Given the description of an element on the screen output the (x, y) to click on. 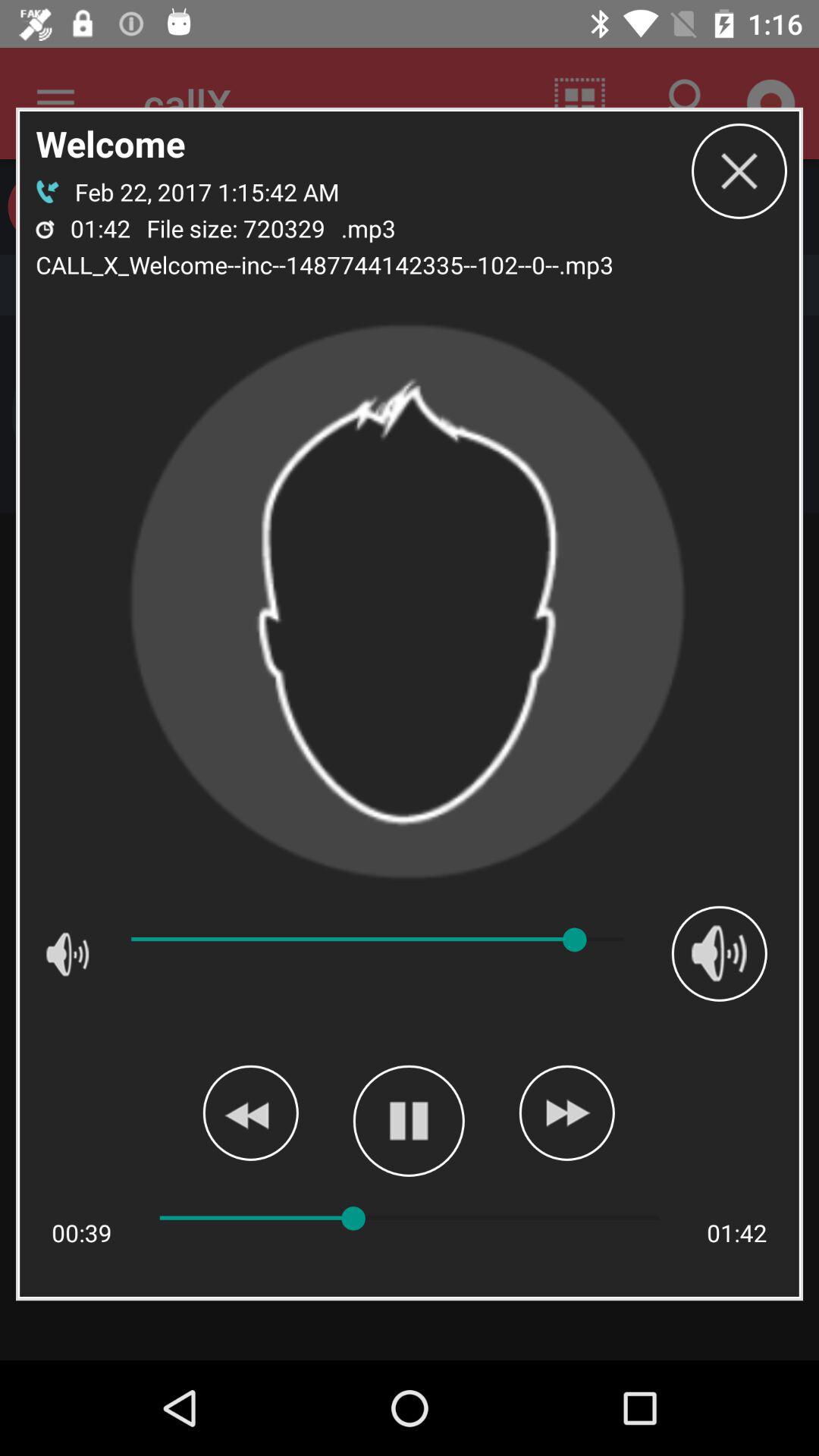
rewind (250, 1112)
